Given the description of an element on the screen output the (x, y) to click on. 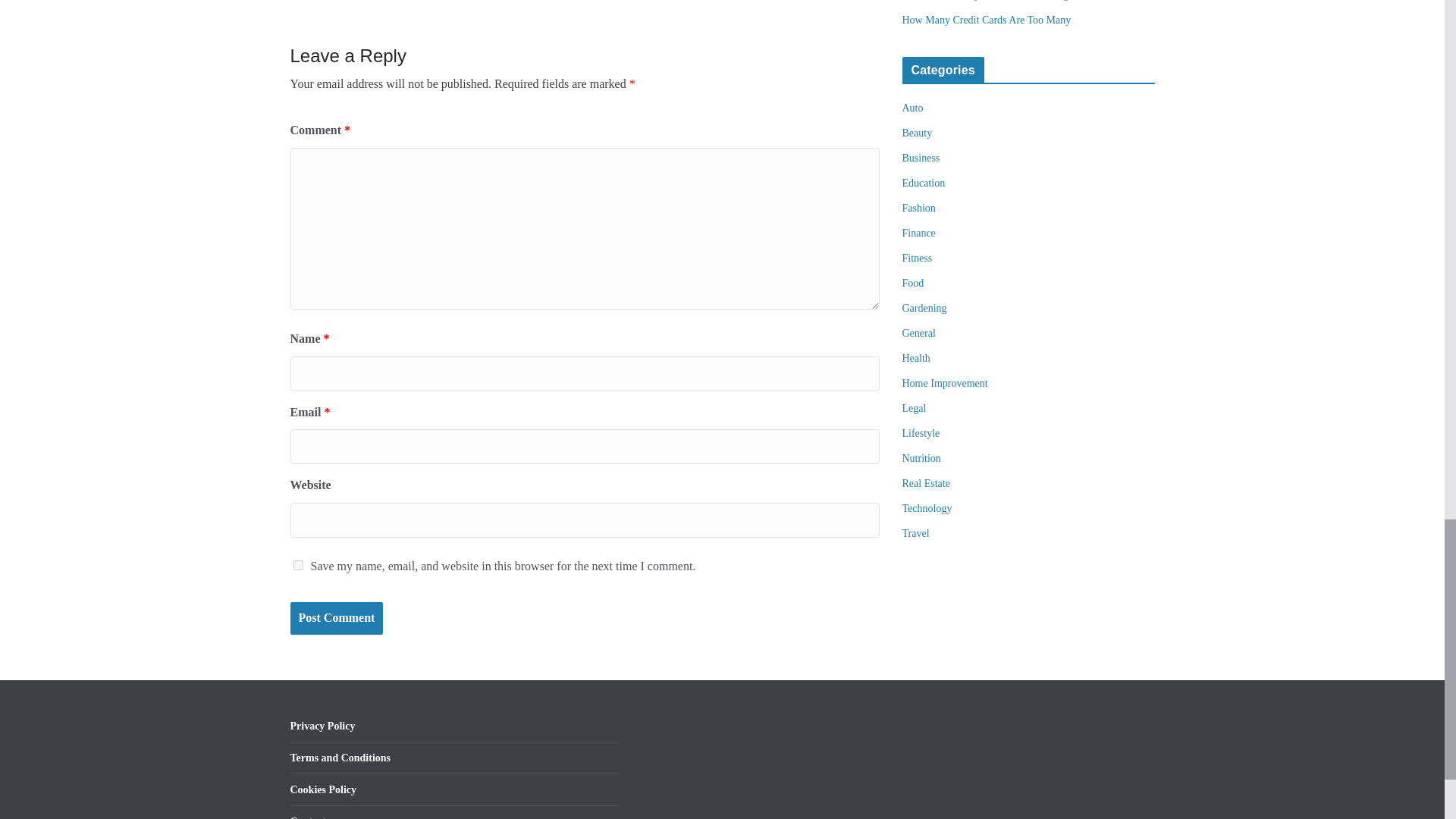
Post Comment (335, 617)
Post Comment (335, 617)
yes (297, 565)
